Given the description of an element on the screen output the (x, y) to click on. 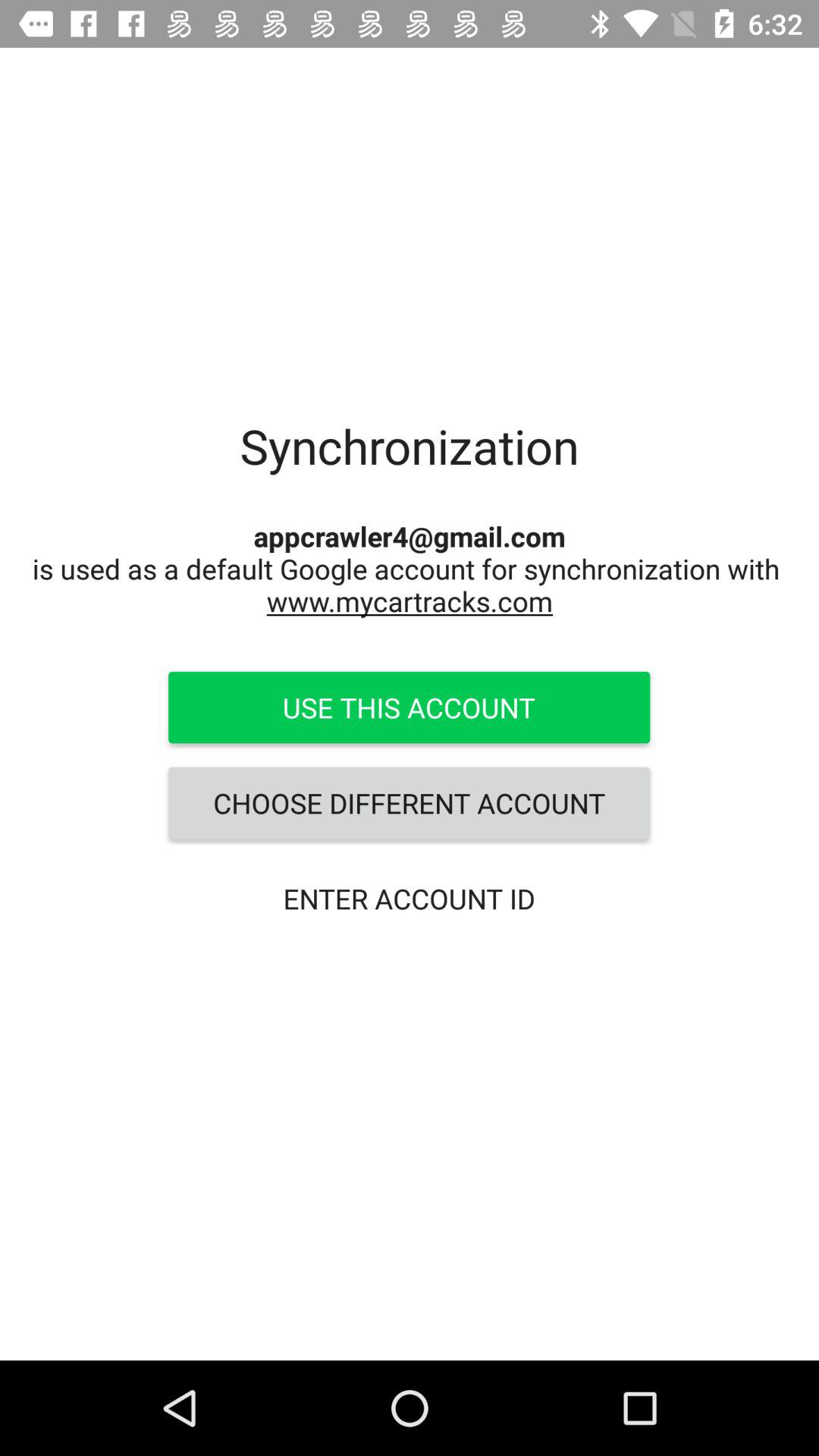
swipe until the use this account icon (409, 707)
